Given the description of an element on the screen output the (x, y) to click on. 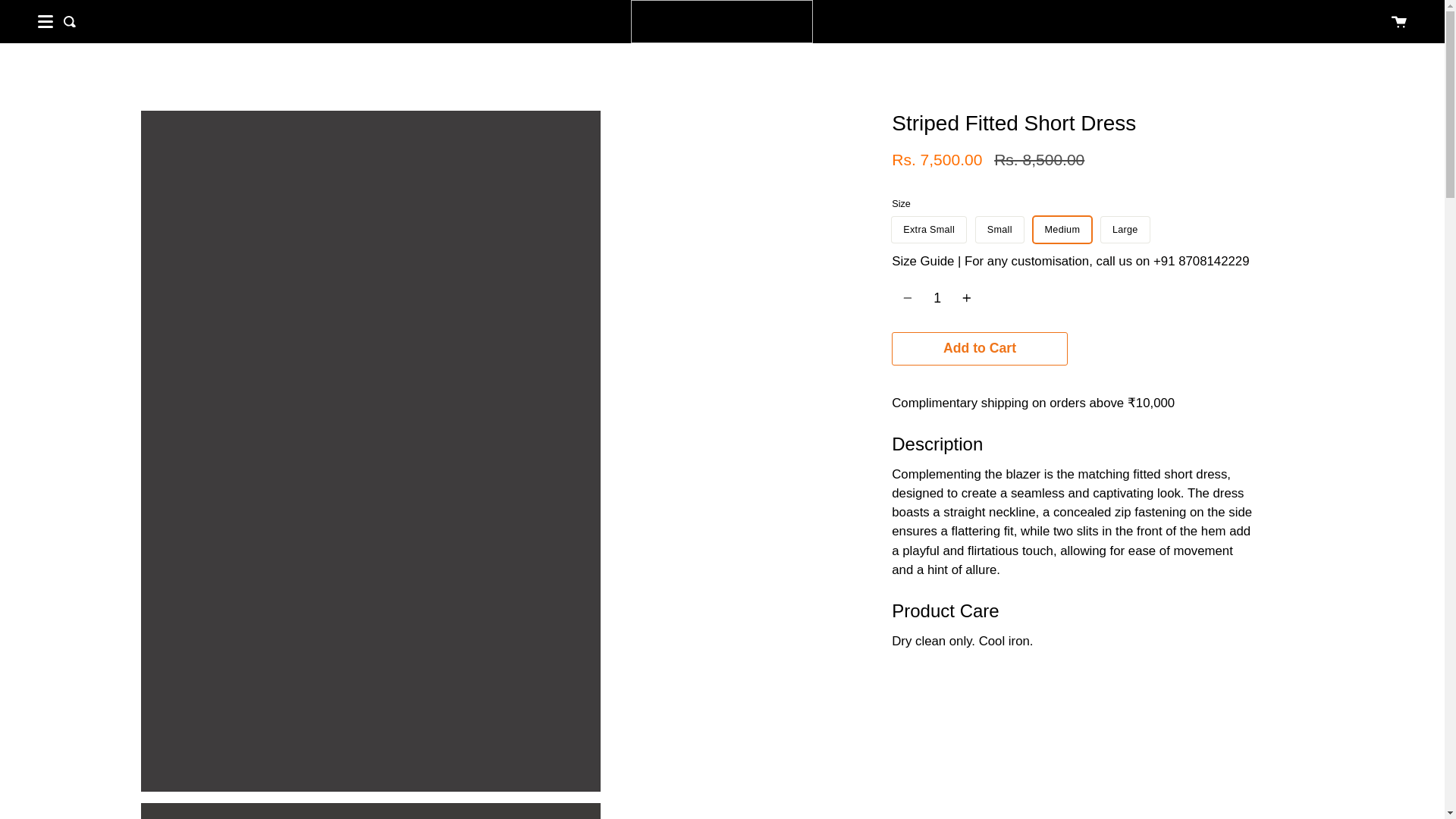
Quantity field - Striped Fitted Short Dress (936, 297)
1 (936, 297)
Add to Cart (979, 348)
